Given the description of an element on the screen output the (x, y) to click on. 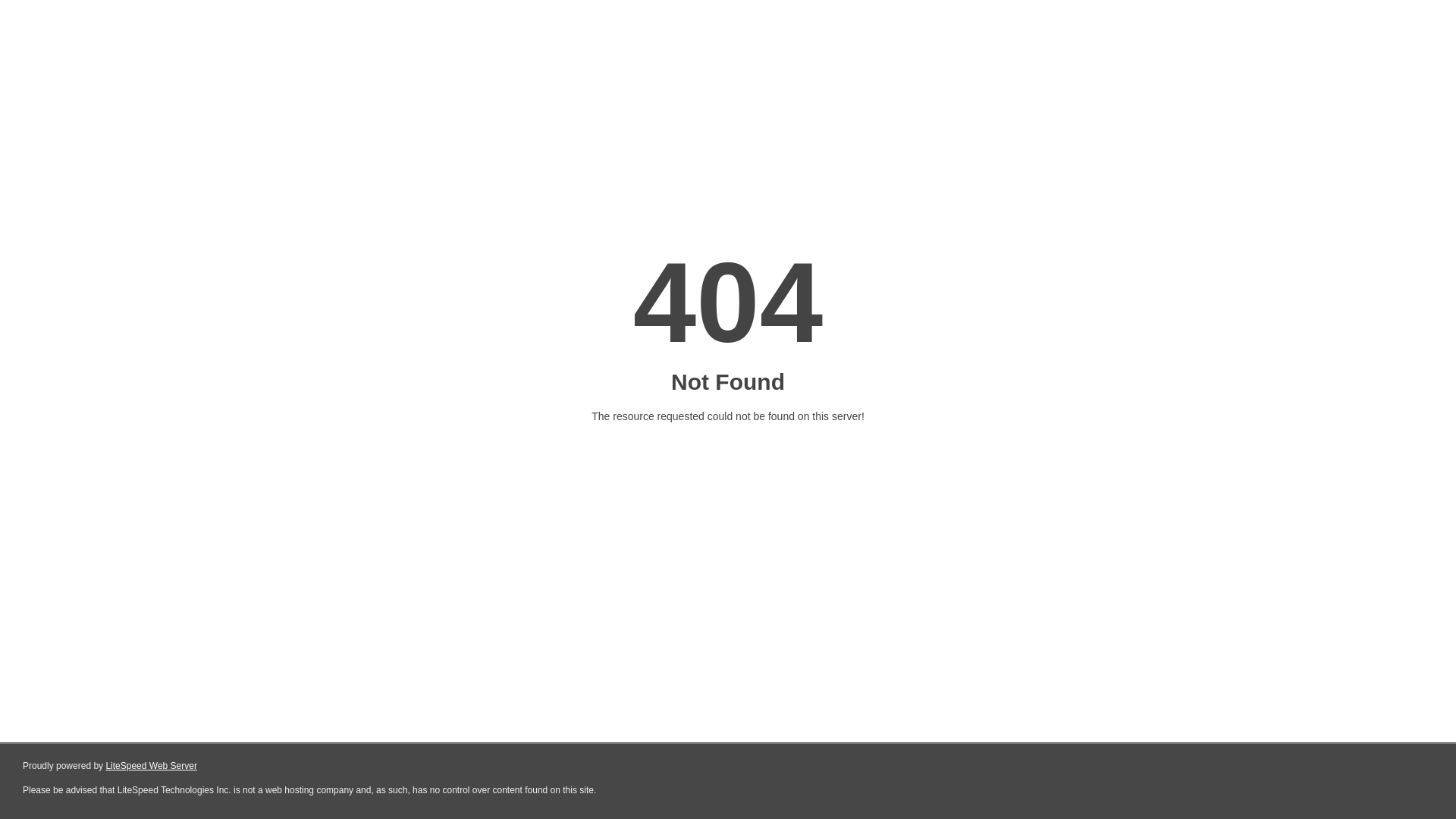
LiteSpeed Web Server Element type: text (151, 765)
